Given the description of an element on the screen output the (x, y) to click on. 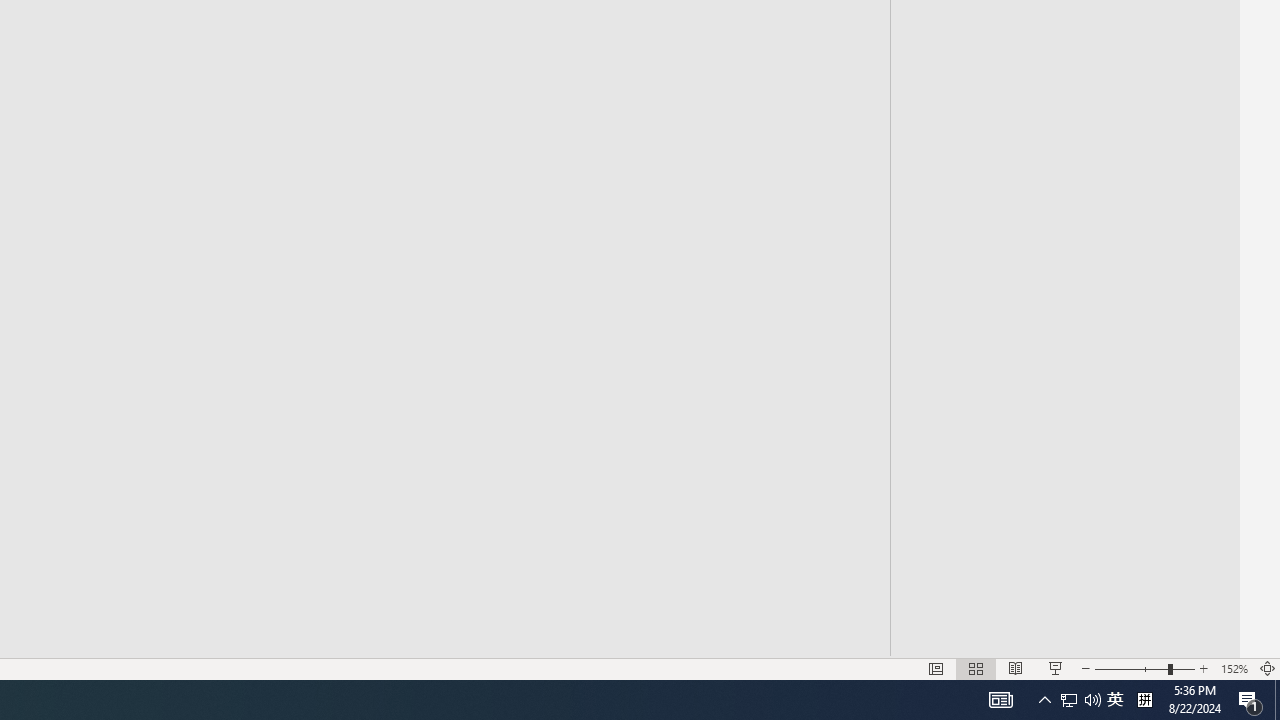
Zoom 152% (1234, 668)
